Given the description of an element on the screen output the (x, y) to click on. 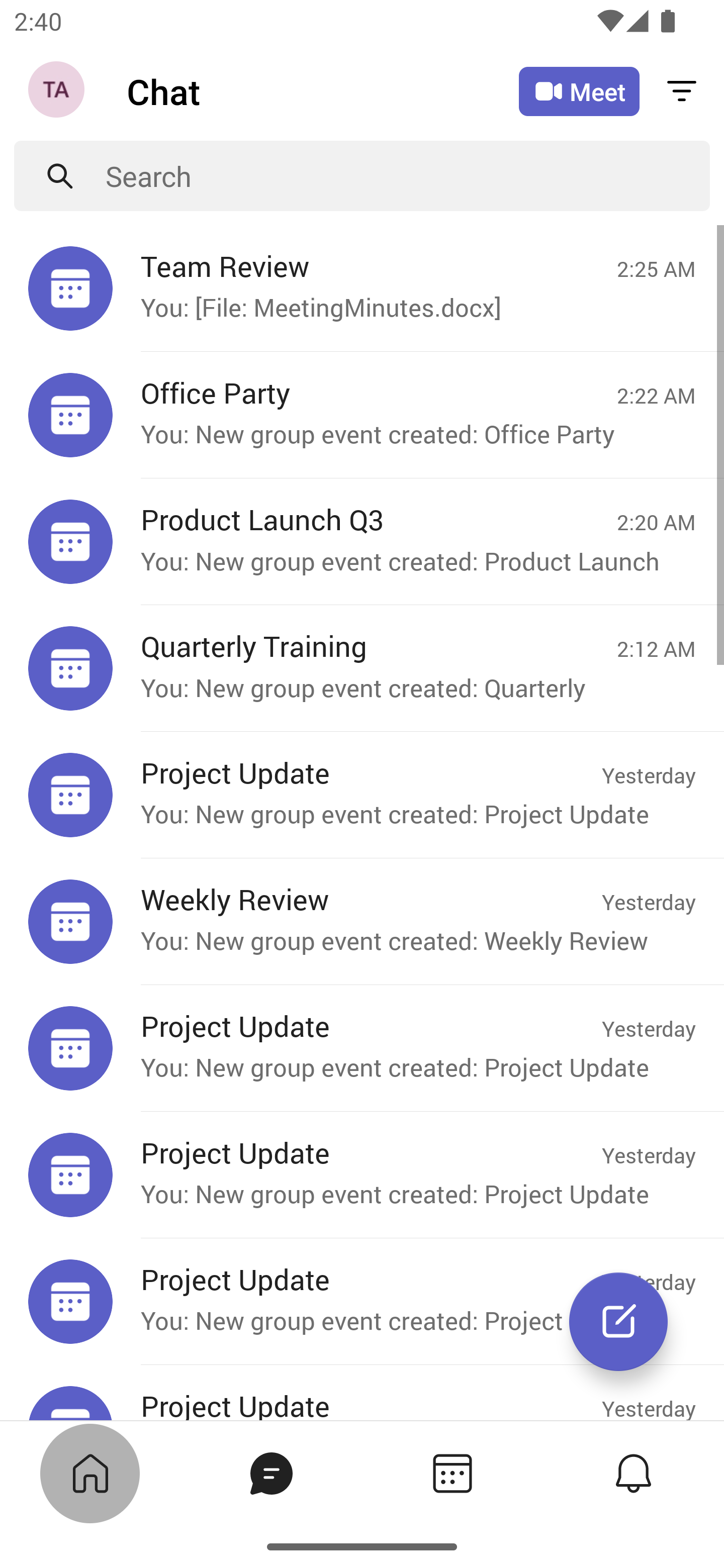
Filter chat messages (681, 90)
Navigation (58, 91)
Meet Meet now or join with an ID (579, 91)
Search (407, 176)
New chat (618, 1321)
Home tab,1 of 4, not selected (90, 1472)
Chat tab, 2 of 4 (271, 1472)
Calendar tab,3 of 4, not selected (452, 1472)
Activity tab,4 of 4, not selected (633, 1472)
